Given the description of an element on the screen output the (x, y) to click on. 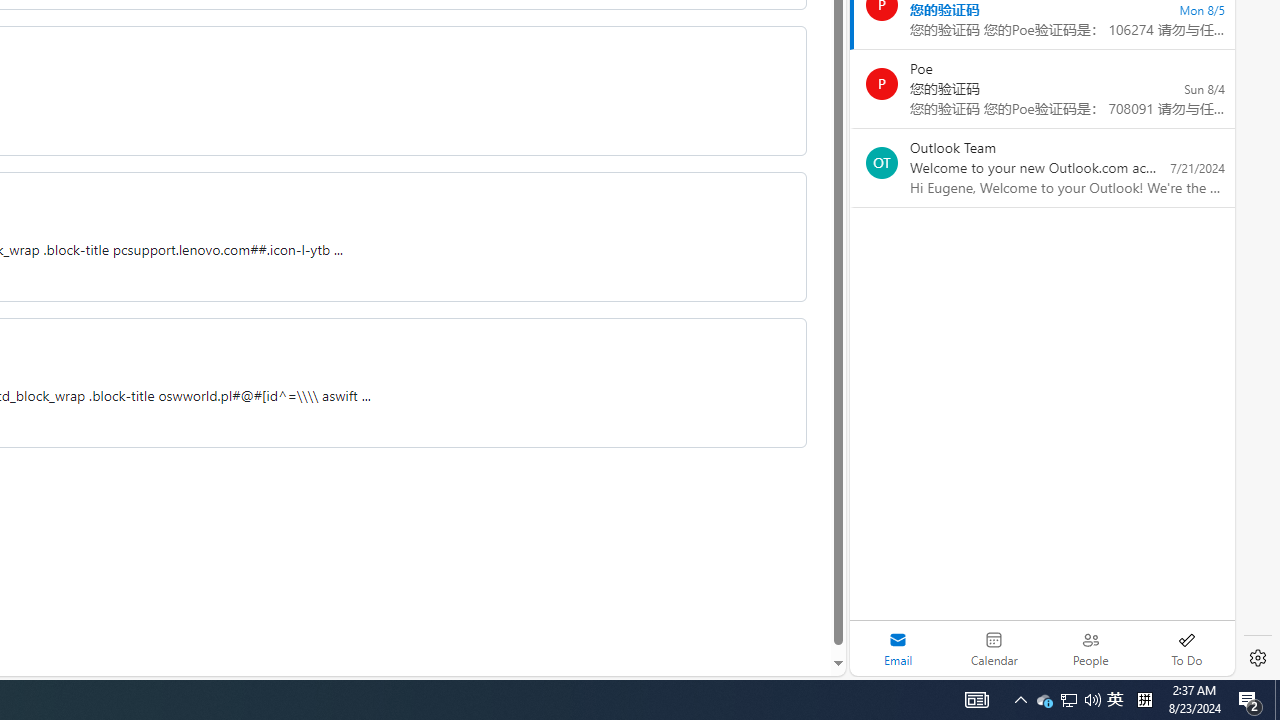
To Do (1186, 648)
People (1090, 648)
Selected mail module (898, 648)
Calendar. Date today is 22 (994, 648)
